Given the description of an element on the screen output the (x, y) to click on. 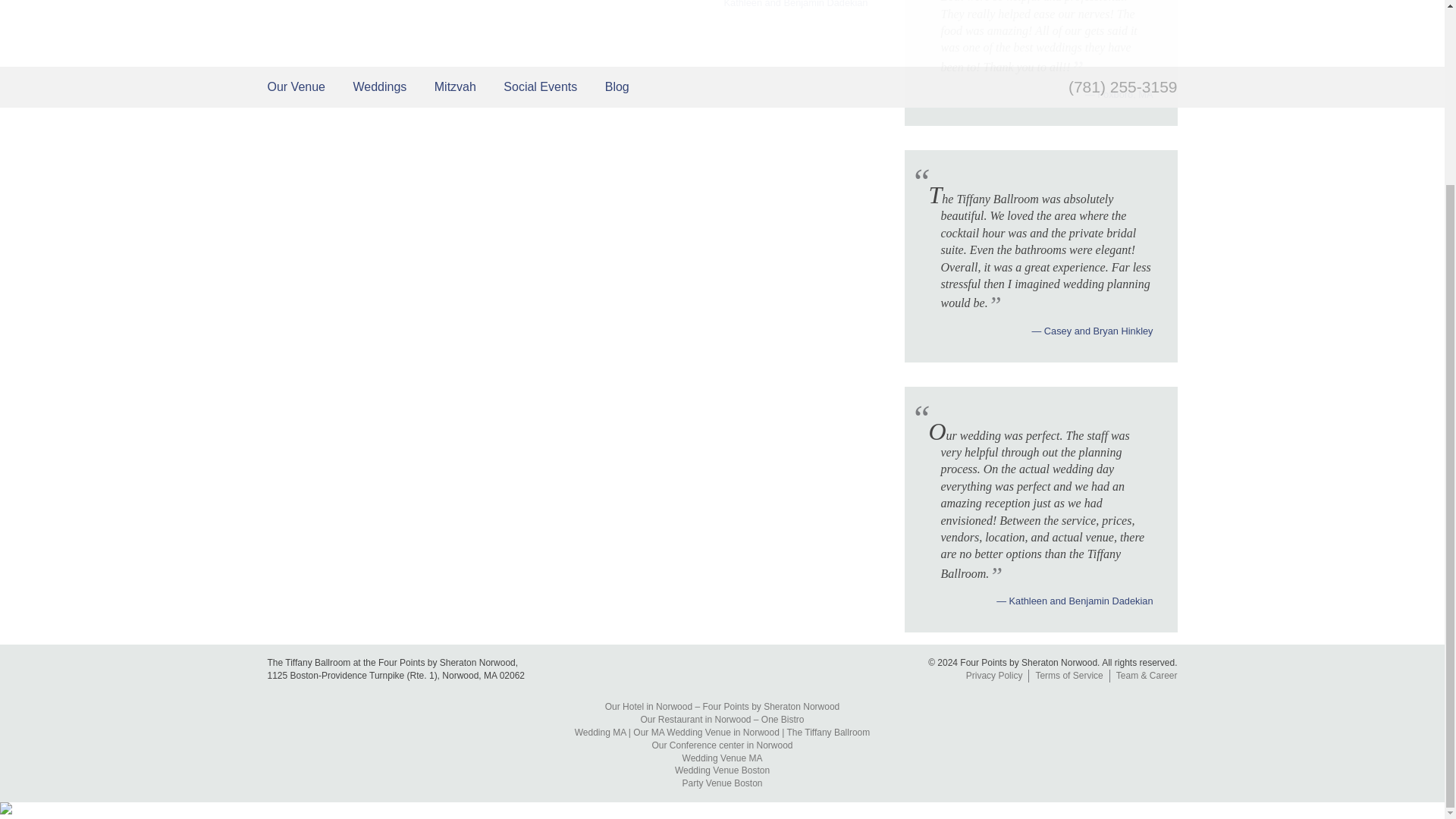
Terms of Service (1068, 675)
Our Conference center in Norwood (721, 744)
Wedding Venue Boston (722, 770)
Wedding Venue MA (722, 757)
Privacy Policy (994, 675)
Party Venue Boston (721, 783)
